Given the description of an element on the screen output the (x, y) to click on. 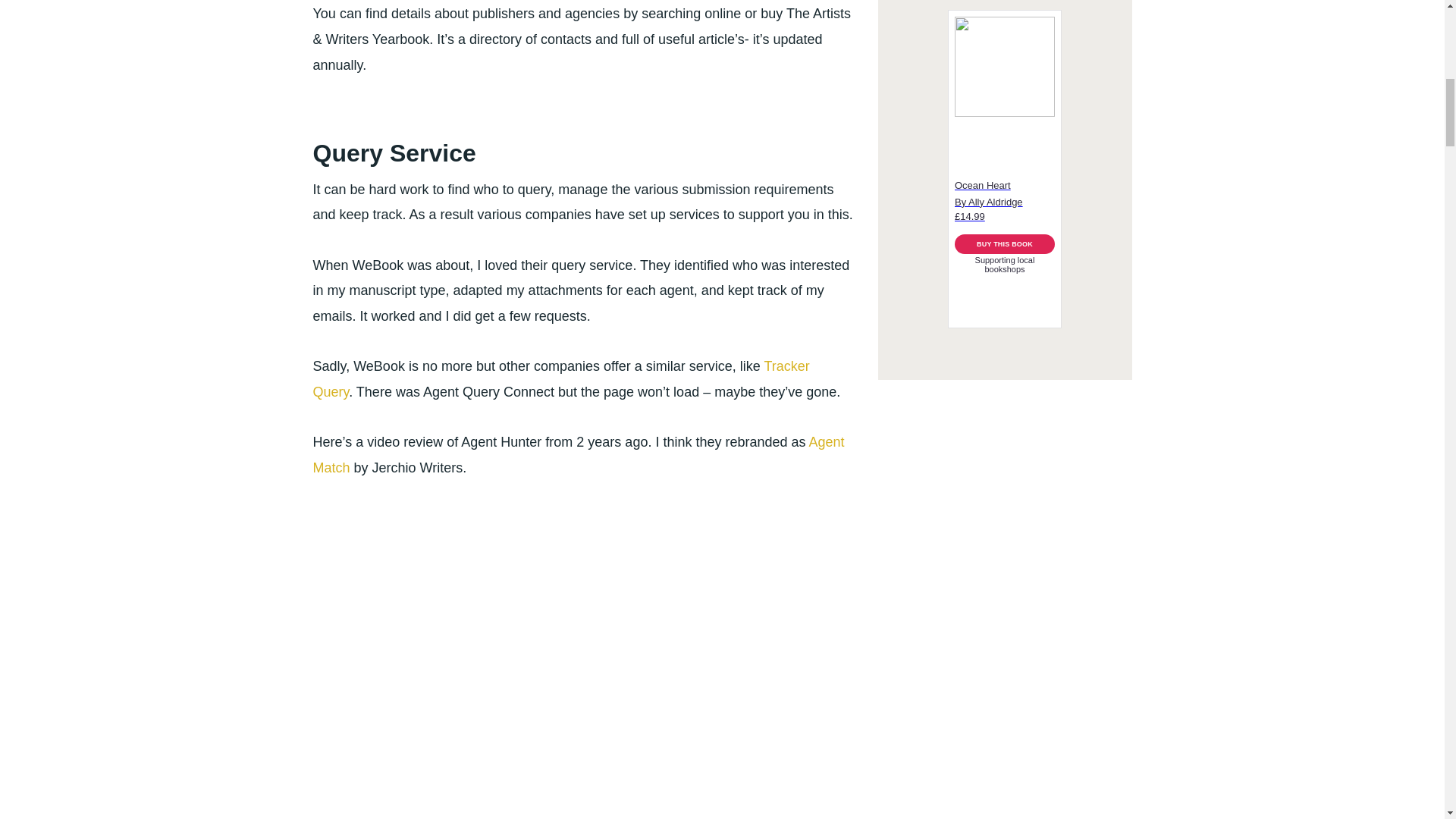
Tracker Query (561, 378)
Agent Match (578, 454)
